Given the description of an element on the screen output the (x, y) to click on. 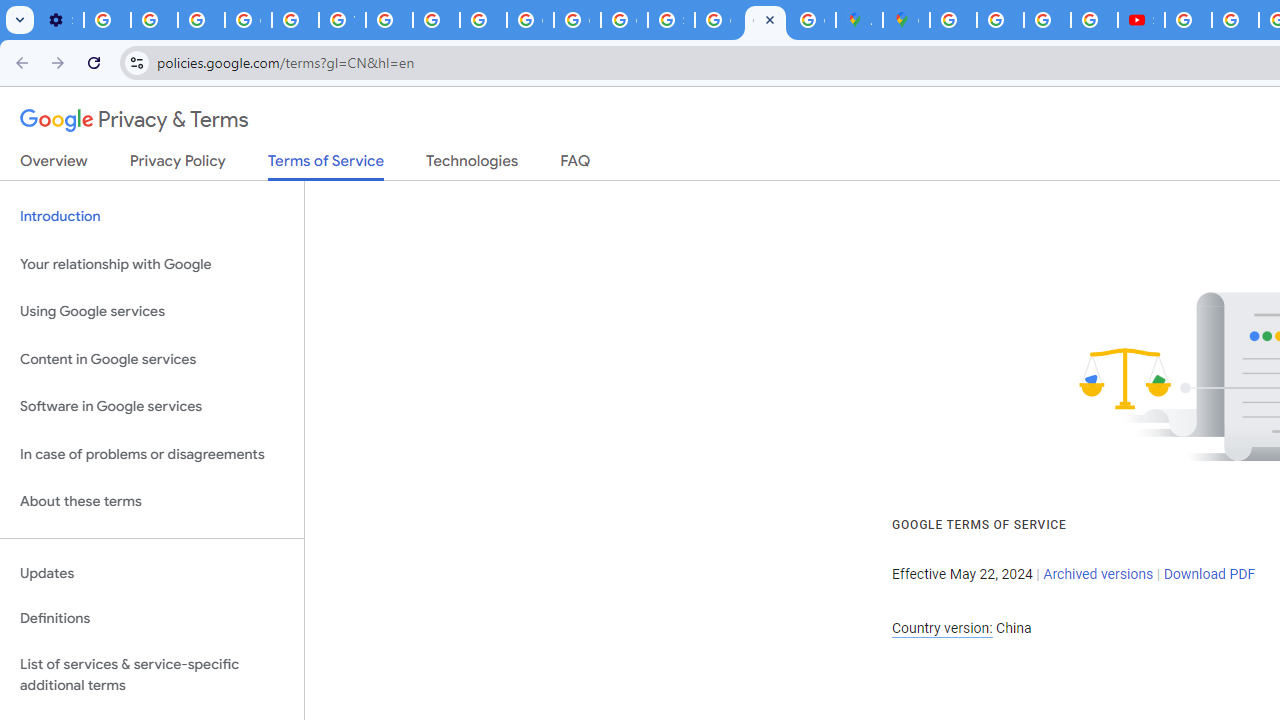
Learn how to find your photos - Google Photos Help (153, 20)
YouTube (342, 20)
In case of problems or disagreements (152, 453)
Software in Google services (152, 407)
Using Google services (152, 312)
Archived versions (1098, 574)
